Given the description of an element on the screen output the (x, y) to click on. 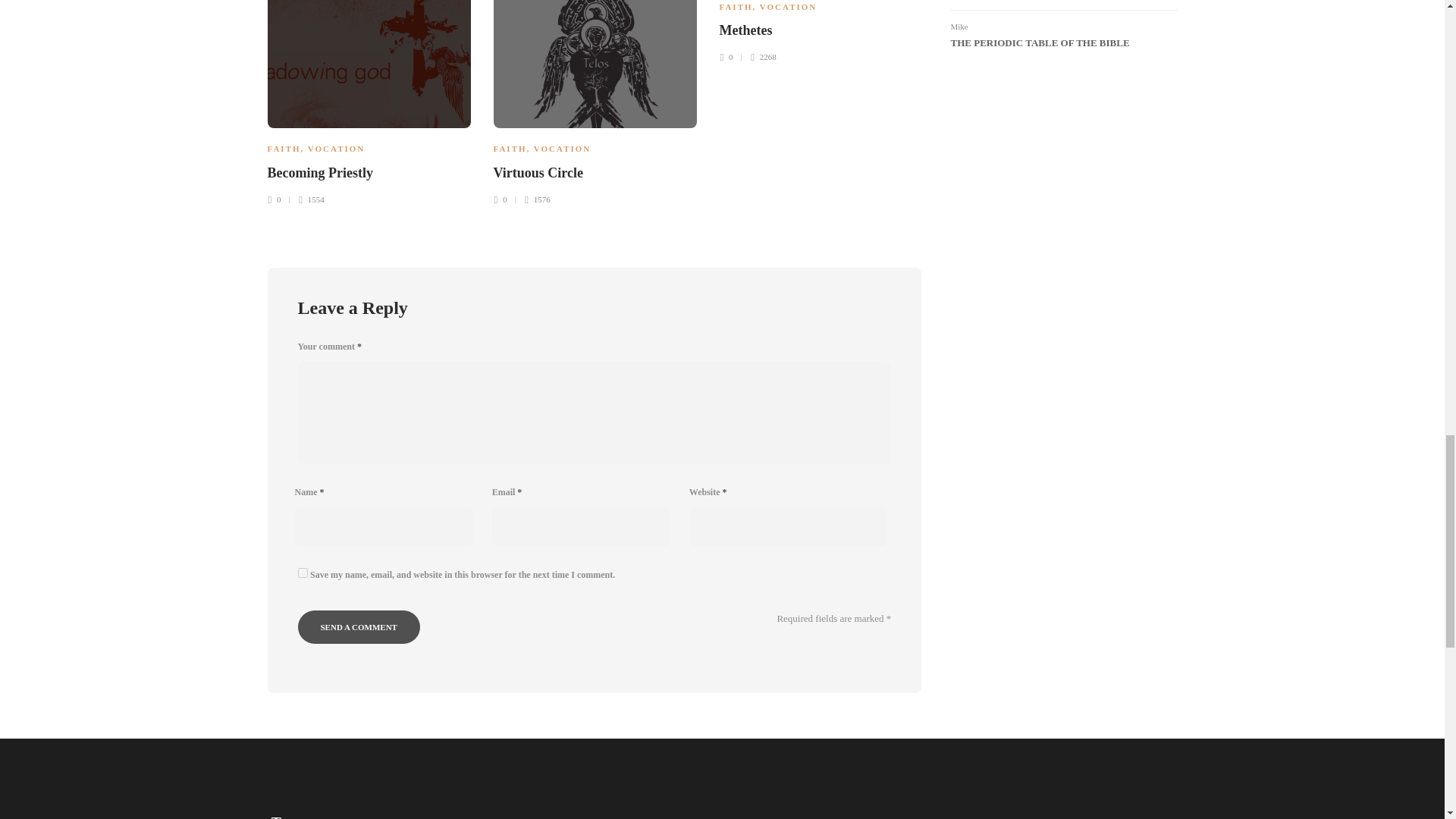
yes (302, 573)
Send a comment (358, 626)
